Given the description of an element on the screen output the (x, y) to click on. 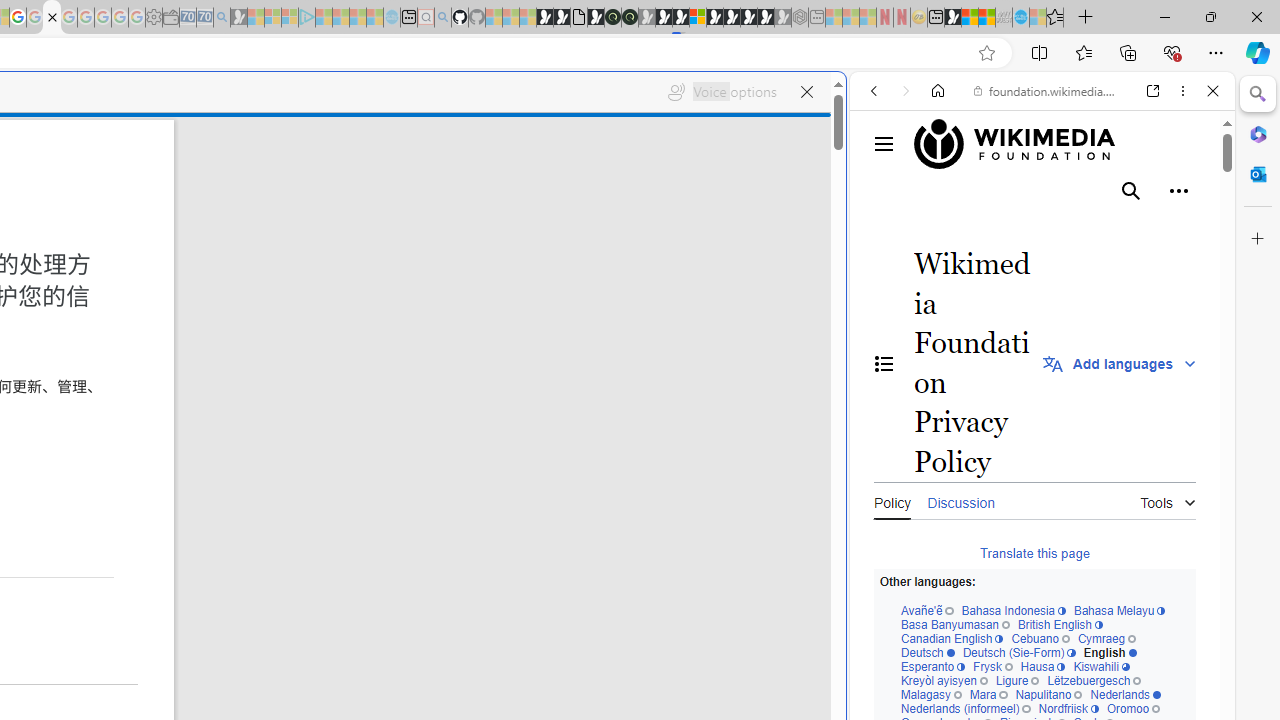
Deutsch (926, 652)
Kiswahili (1101, 667)
Ligure (1016, 681)
Napulitano (1048, 695)
Search Filter, Search Tools (1093, 228)
Wikimedia Foundation Governance Wiki (1044, 143)
